Given the description of an element on the screen output the (x, y) to click on. 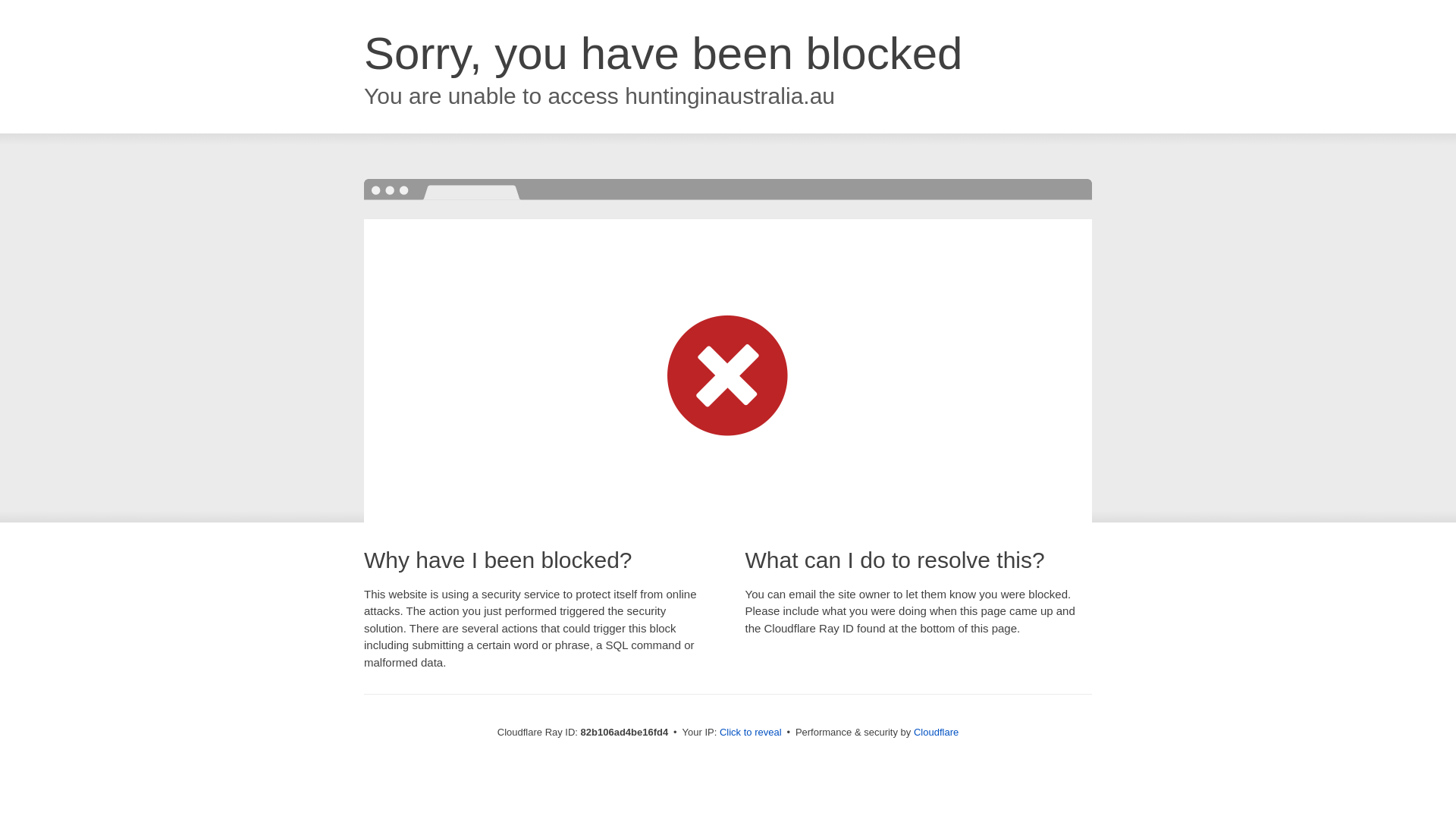
Cloudflare Element type: text (935, 731)
Click to reveal Element type: text (750, 732)
